Given the description of an element on the screen output the (x, y) to click on. 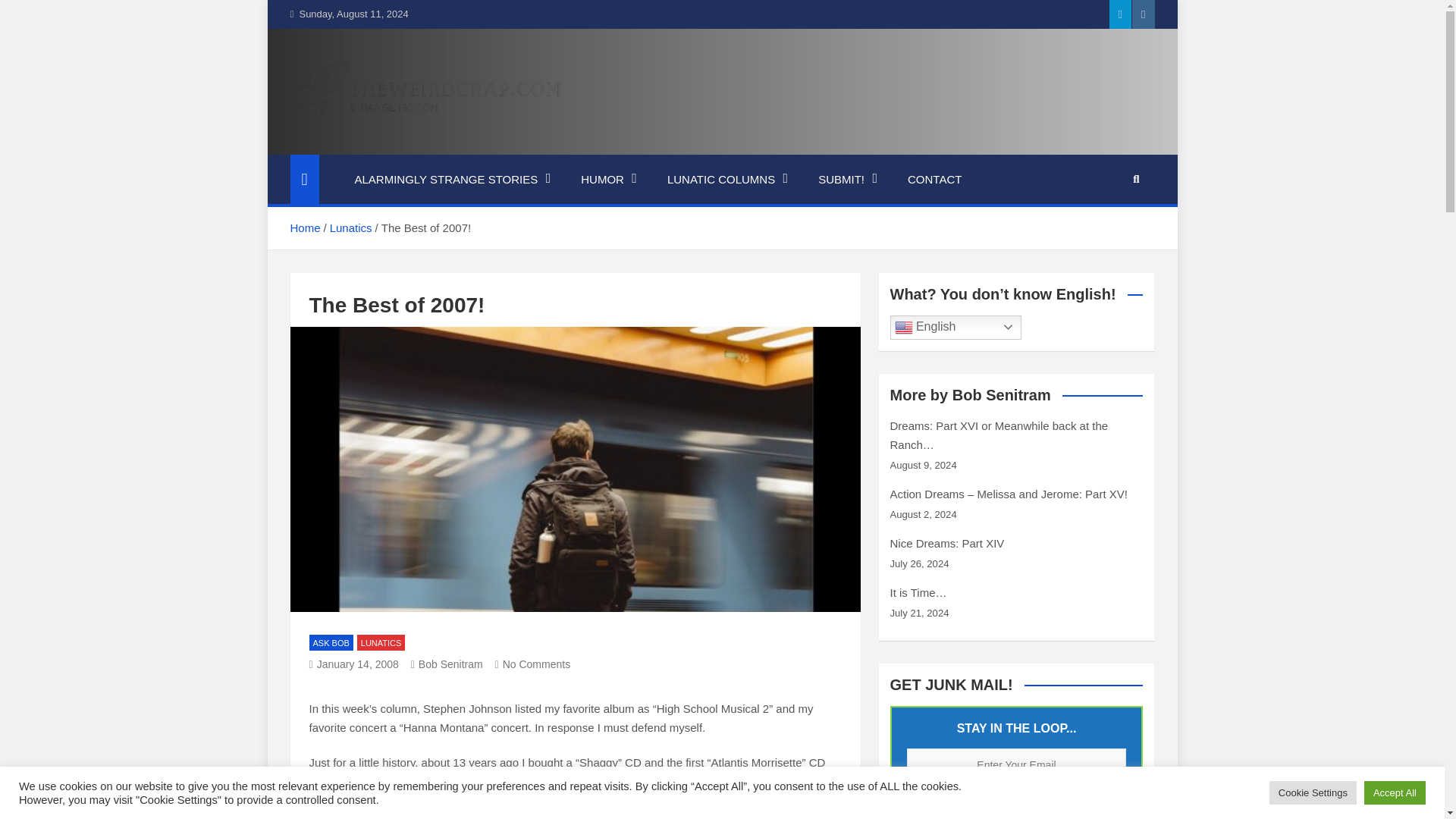
ALARMINGLY STRANGE STORIES (452, 179)
HUMOR (609, 179)
SUBMIT! (847, 179)
The Weird Crap (401, 143)
LUNATIC COLUMNS (727, 179)
The Best of 2007! (353, 664)
JUNK ME! (1016, 805)
